Given the description of an element on the screen output the (x, y) to click on. 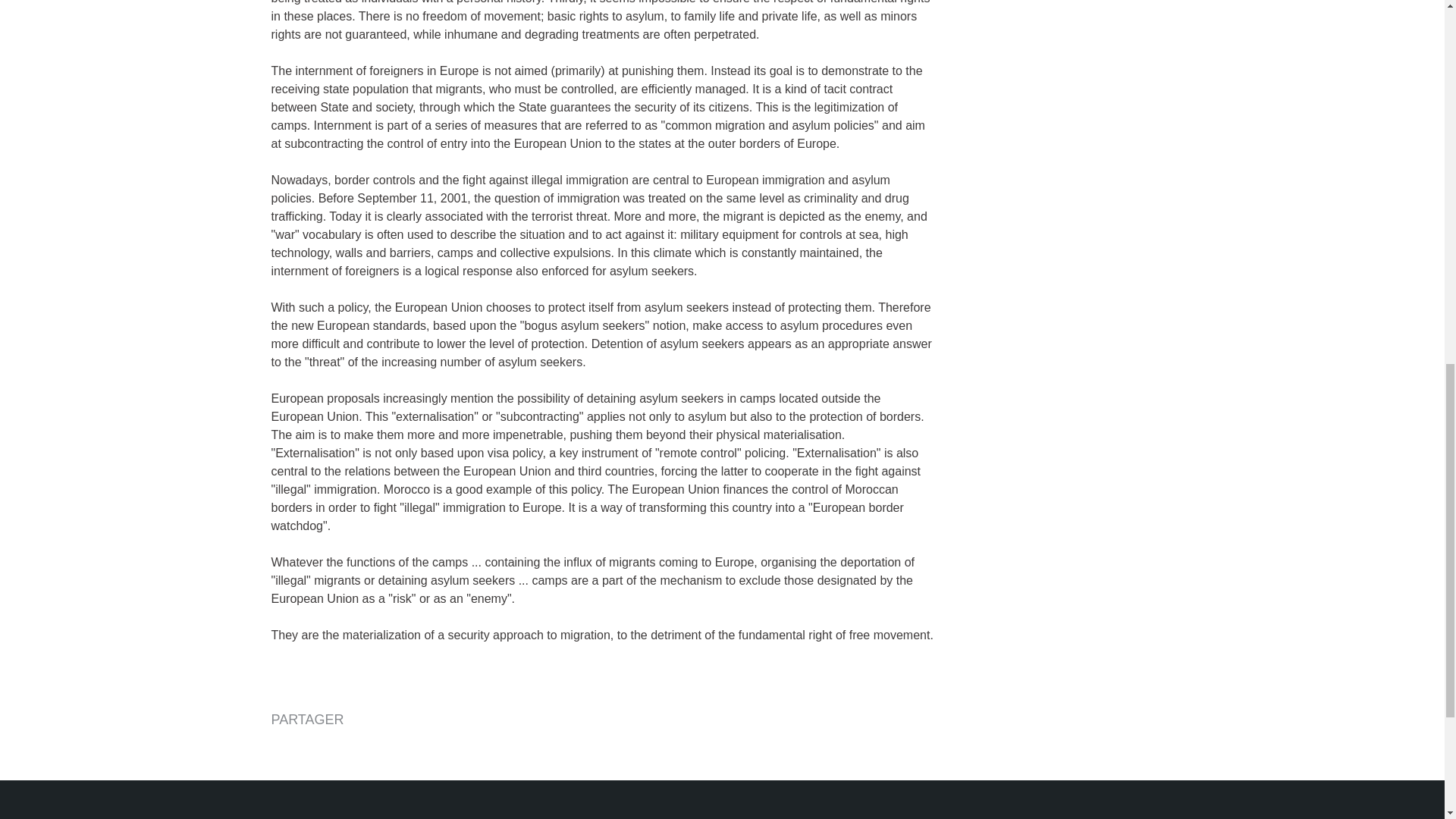
Partager sur Facebook (284, 748)
Partager sur Twitter (320, 748)
Partager sur Facebook (284, 748)
Partager sur Twitter (320, 748)
